Given the description of an element on the screen output the (x, y) to click on. 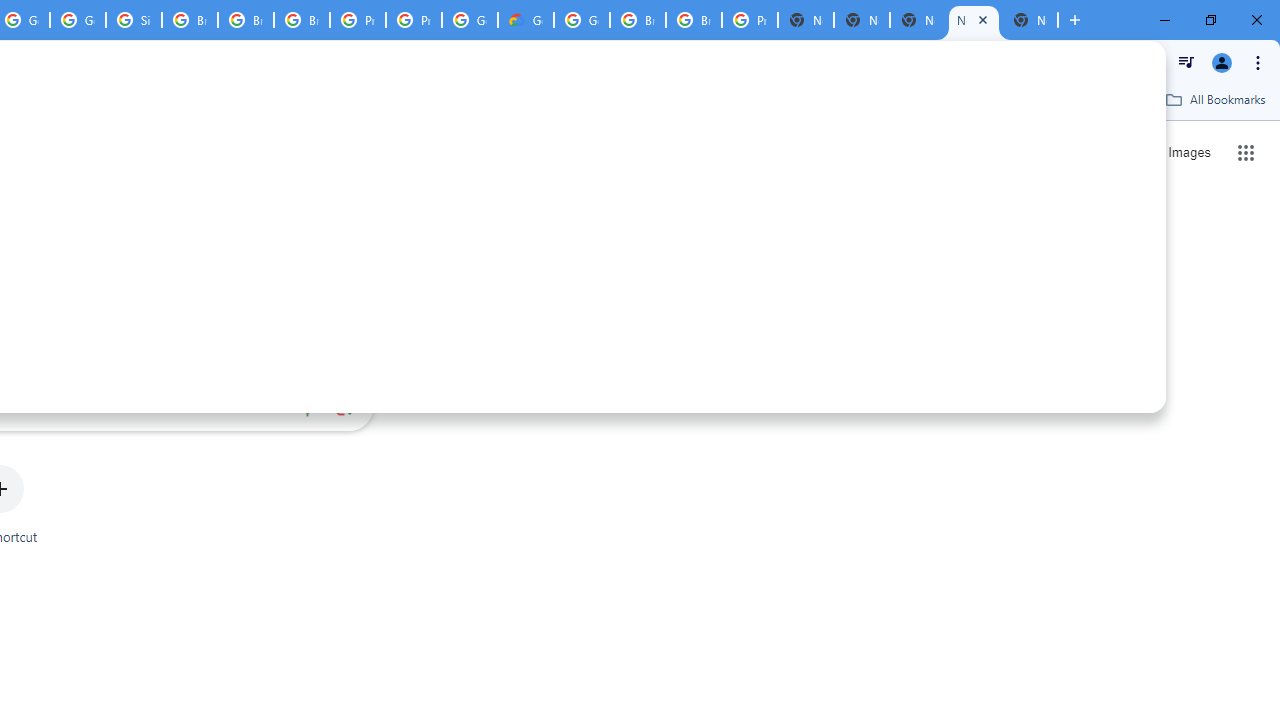
Google Cloud Platform (582, 20)
Browse Chrome as a guest - Computer - Google Chrome Help (189, 20)
Browse Chrome as a guest - Computer - Google Chrome Help (637, 20)
